Given the description of an element on the screen output the (x, y) to click on. 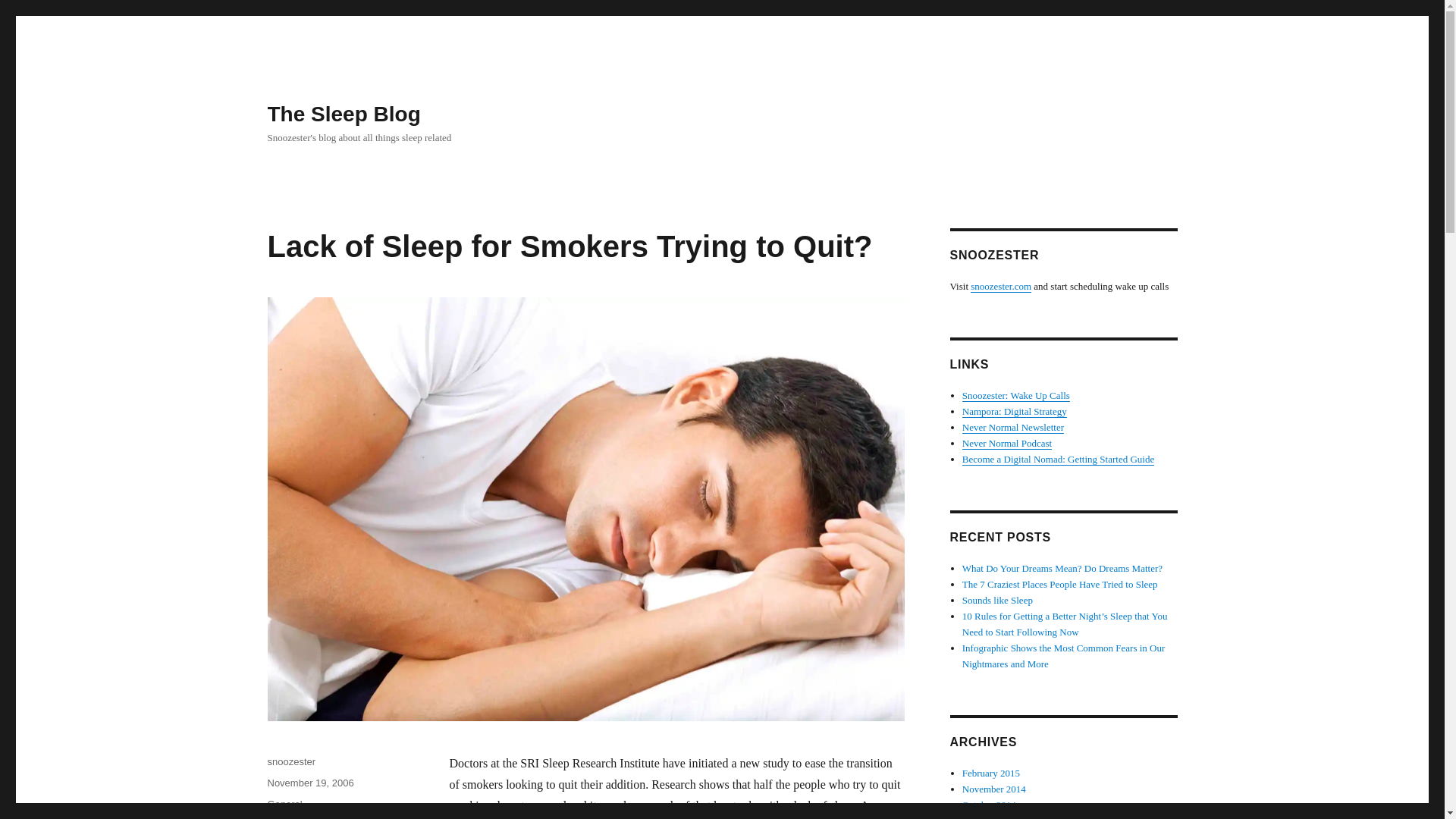
General (283, 803)
snoozester (290, 761)
Become a Digital Nomad: Getting Started Guide (1058, 459)
snoozester (290, 761)
The Sleep Blog (343, 114)
Never Normal Podcast (1006, 442)
November 19, 2006 (309, 782)
Snoozester: Wake Up Calls (1016, 395)
General (283, 803)
What Do Your Dreams Mean? Do Dreams Matter? (1061, 568)
